Given the description of an element on the screen output the (x, y) to click on. 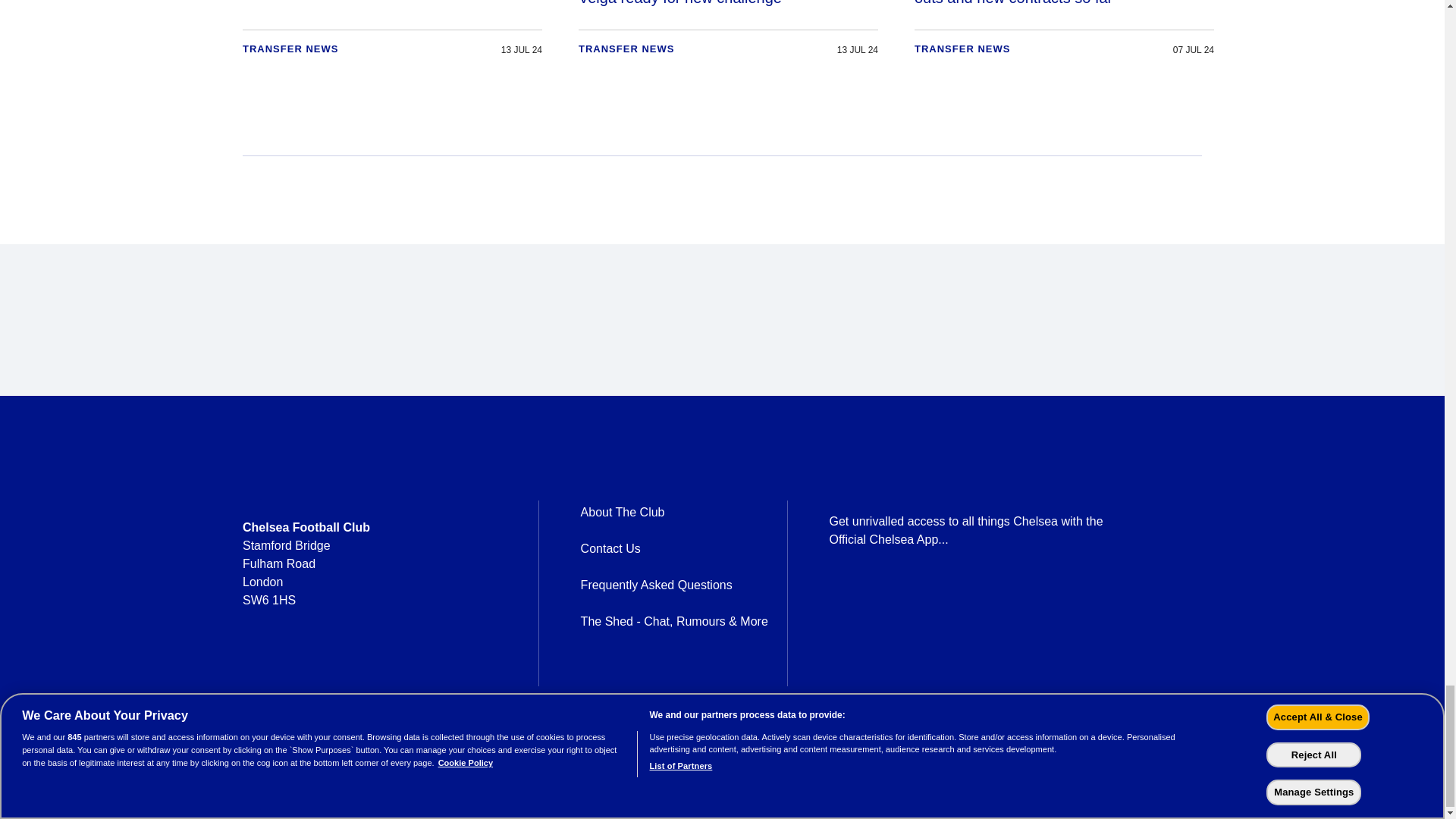
Gallery: Veiga arrives at Cobham (392, 33)
youtube (371, 675)
instagram (331, 675)
facebook (253, 675)
tiktok (410, 675)
twitter (292, 675)
